Given the description of an element on the screen output the (x, y) to click on. 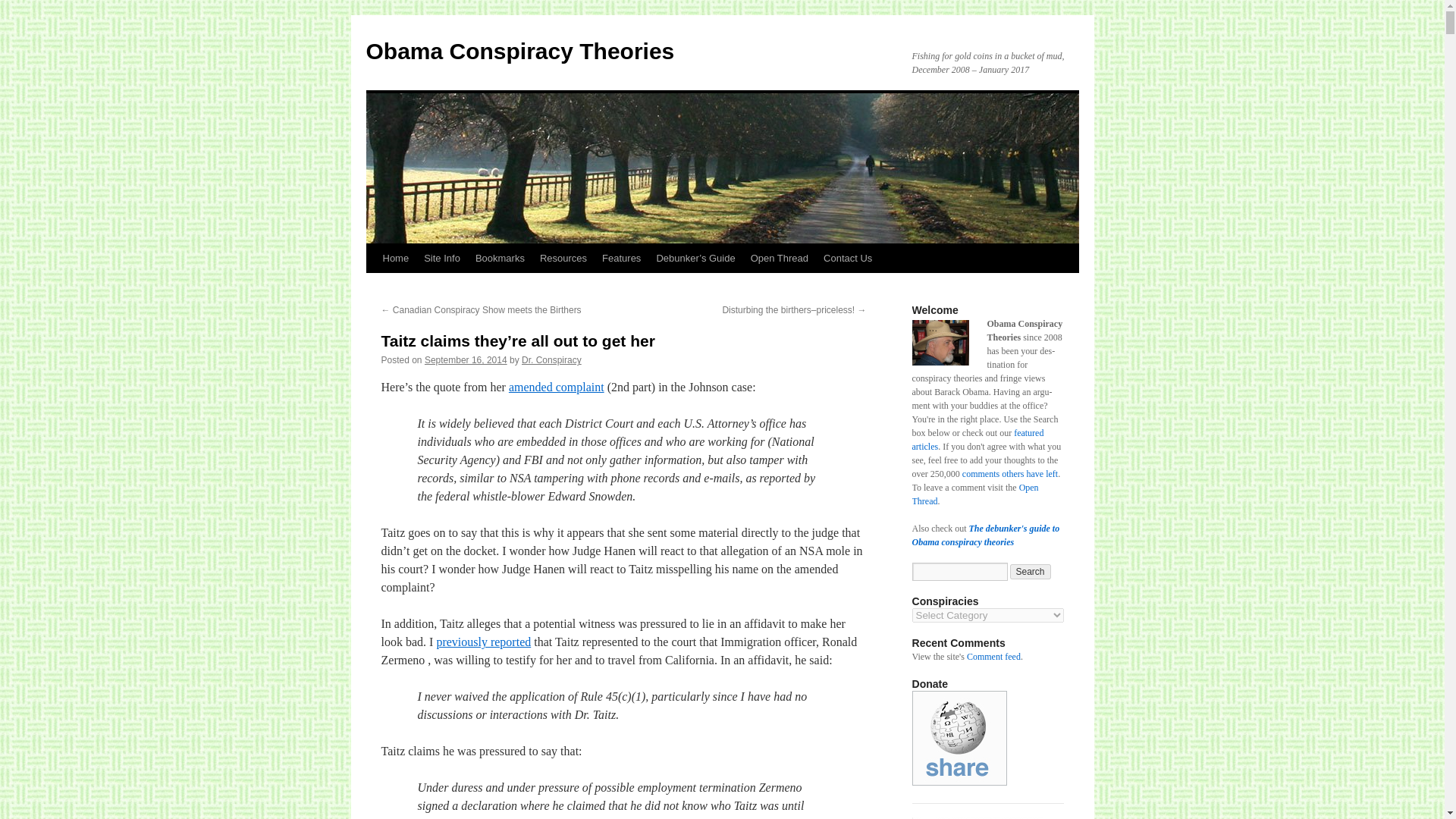
Home (395, 258)
previously reported (483, 641)
Resources (563, 258)
Search (1030, 571)
Contact Us (847, 258)
amended complaint (556, 386)
September 16, 2014 (465, 359)
Site Info (441, 258)
Features (620, 258)
Dr. Conspiracy (550, 359)
